Given the description of an element on the screen output the (x, y) to click on. 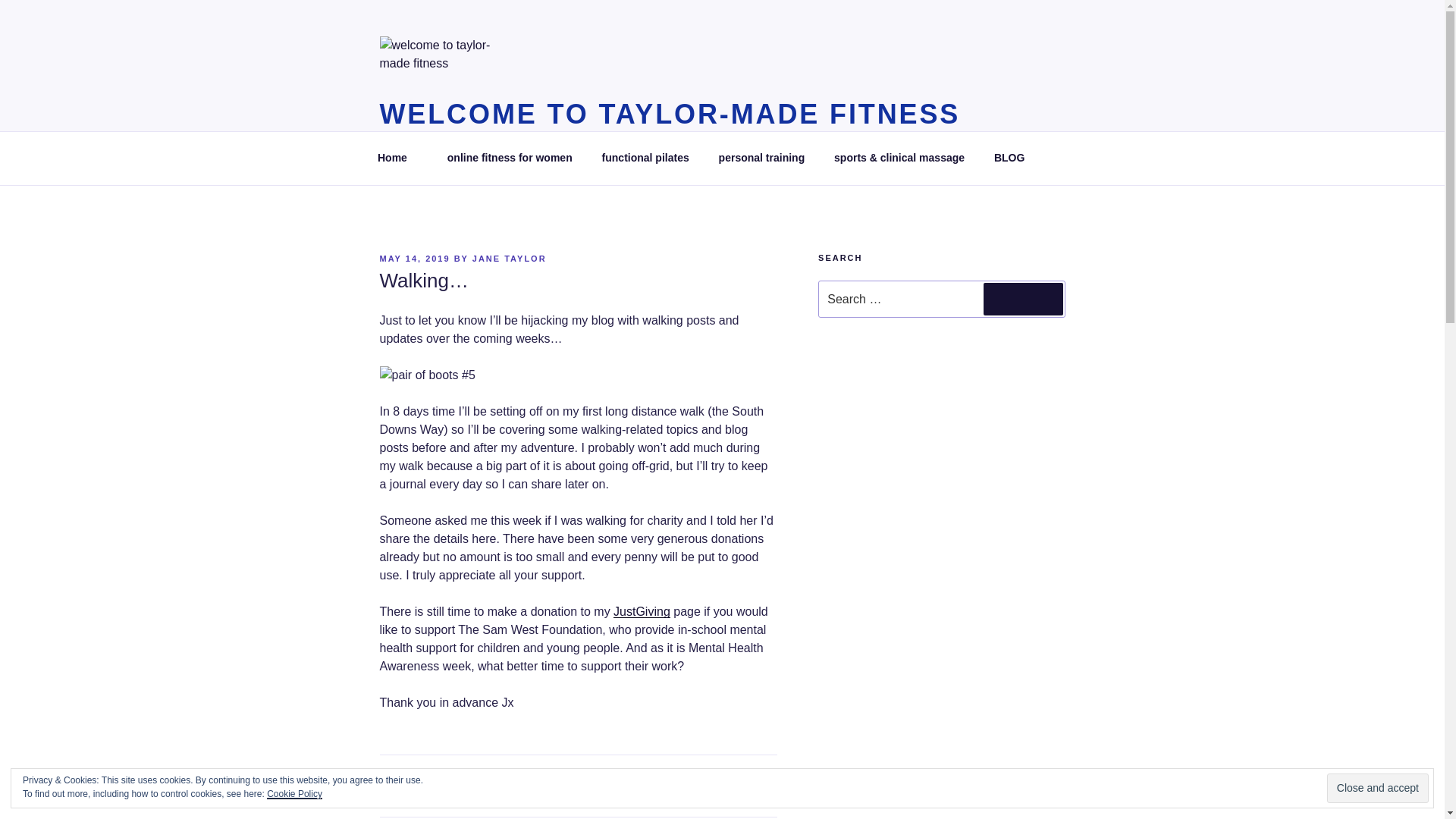
Search (1023, 298)
MAY 14, 2019 (413, 257)
BLOG (1013, 157)
personal training (761, 157)
JustGiving (640, 611)
Home (397, 157)
WELCOME TO TAYLOR-MADE FITNESS (668, 113)
Close and accept (1377, 788)
Cookie Policy (293, 793)
online fitness for women (509, 157)
